Given the description of an element on the screen output the (x, y) to click on. 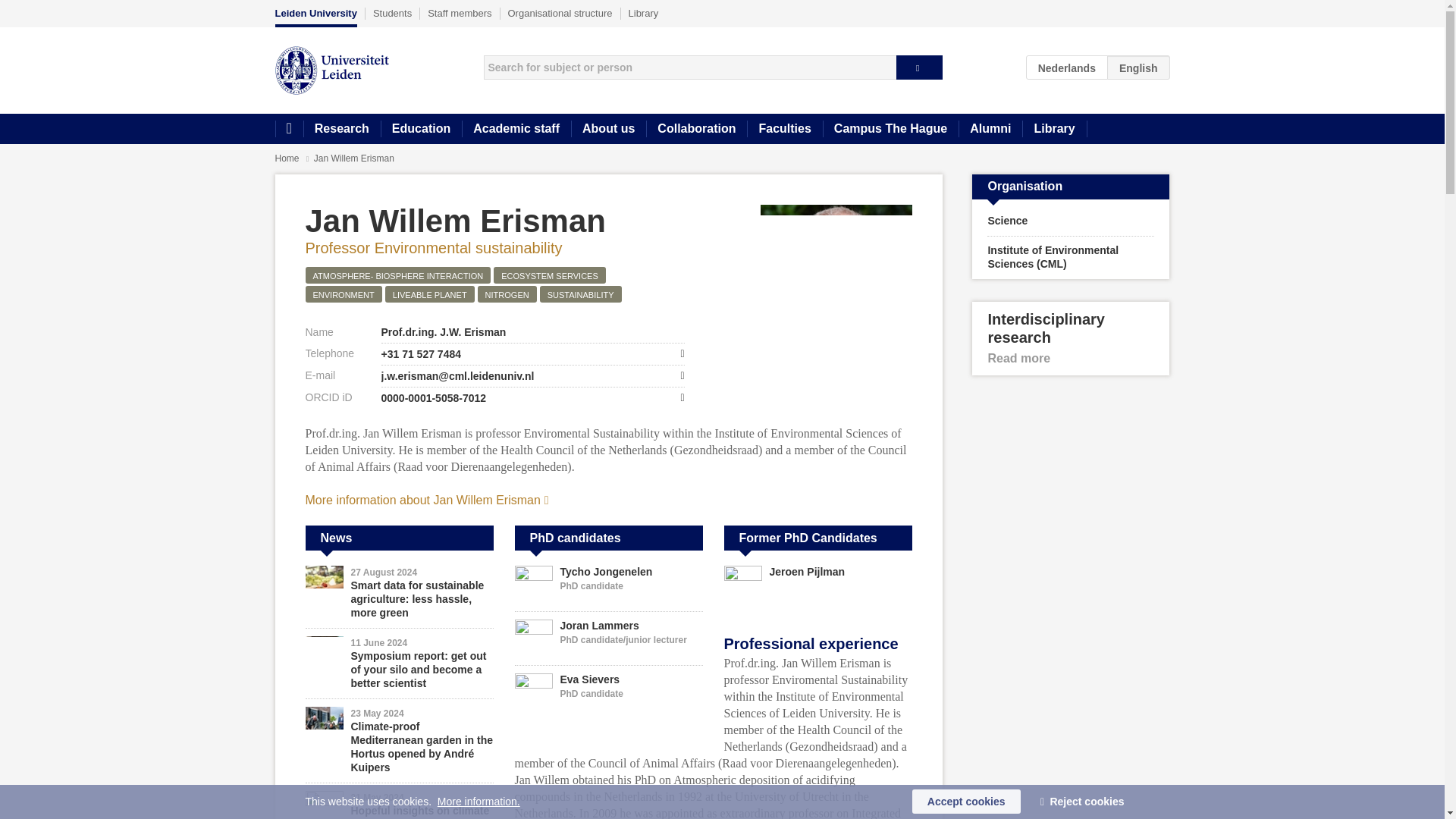
Library (1054, 128)
ECOSYSTEM SERVICES (549, 274)
NITROGEN (507, 293)
Search (919, 67)
LIVEABLE PLANET (429, 293)
Home (288, 128)
0000-0001-5058-7012 (532, 397)
Research (341, 128)
NL (1067, 67)
Education (420, 128)
